Given the description of an element on the screen output the (x, y) to click on. 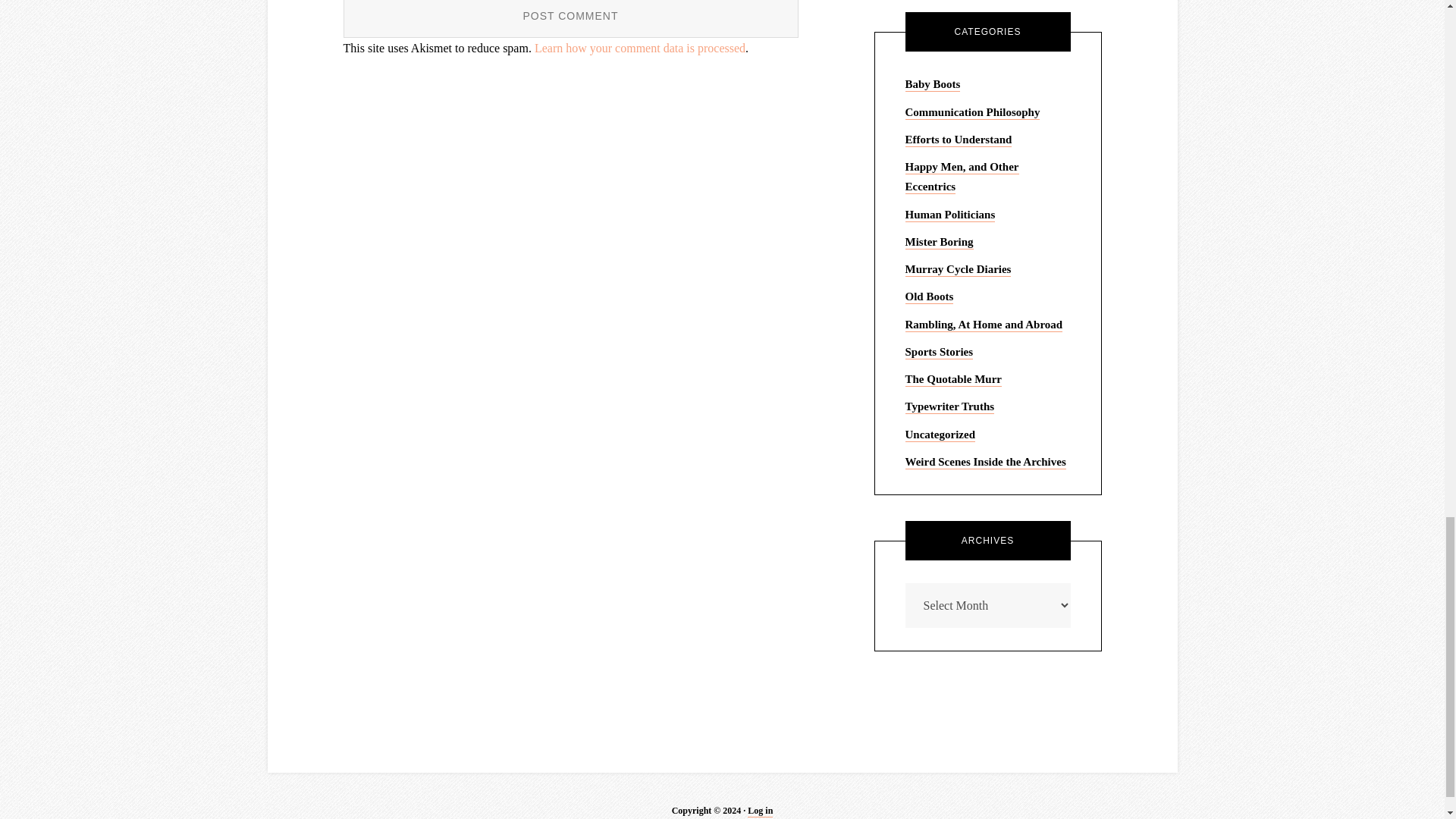
Old Boots (929, 296)
Learn how your comment data is processed (639, 47)
Communication Philosophy (973, 112)
The Quotable Murr (954, 379)
Mister Boring (939, 242)
Human Politicians (950, 214)
Weird Scenes Inside the Archives (985, 462)
Post Comment (569, 18)
Post Comment (569, 18)
Murray Cycle Diaries (958, 269)
Sports Stories (939, 352)
Happy Men, and Other Eccentrics (962, 177)
Typewriter Truths (949, 407)
Efforts to Understand (958, 140)
Log in (760, 811)
